Given the description of an element on the screen output the (x, y) to click on. 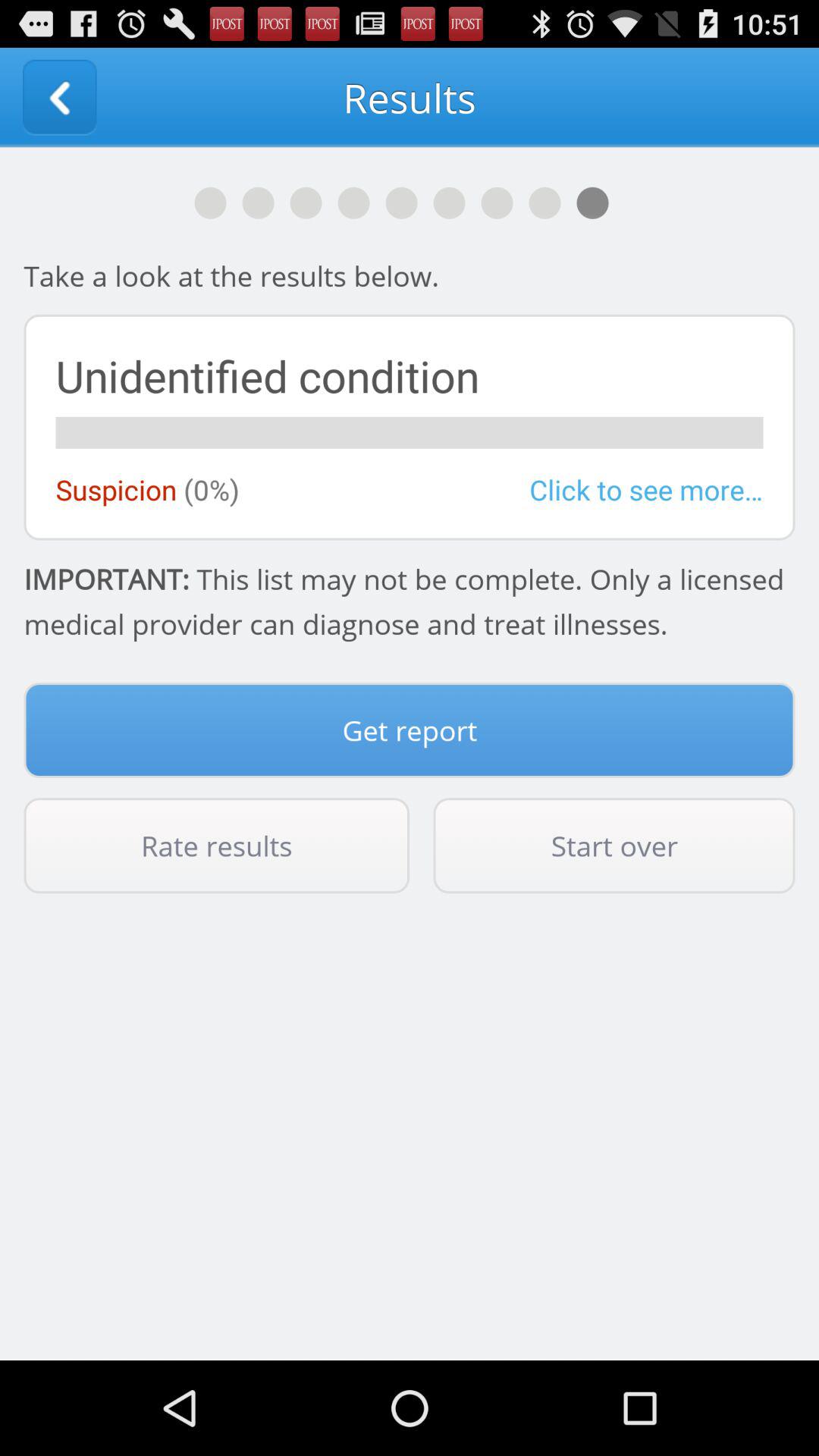
view previous page (59, 97)
